Given the description of an element on the screen output the (x, y) to click on. 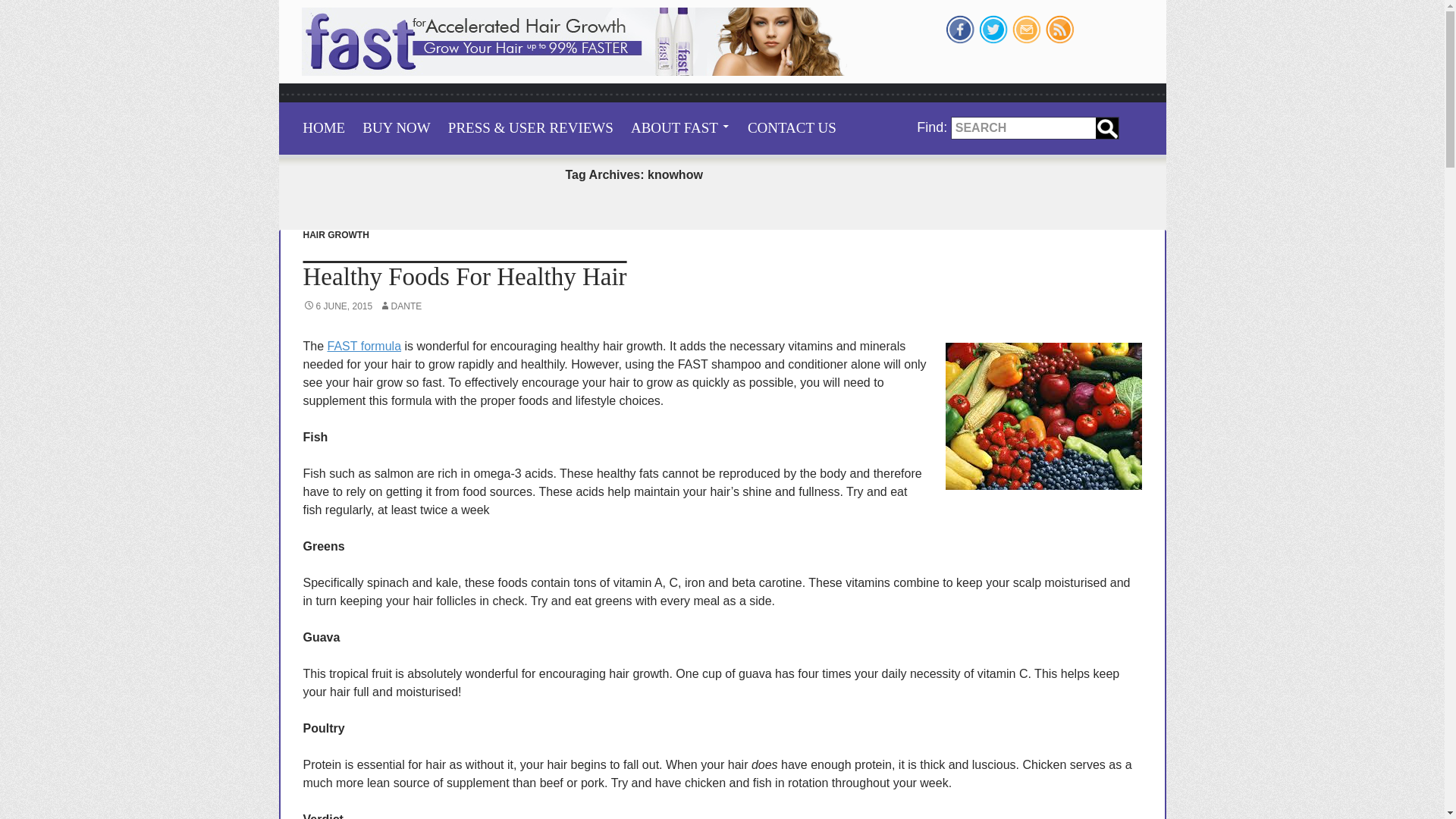
Healthy Foods For Healthy Hair (464, 276)
CONTACT US (791, 127)
DANTE (400, 306)
6 JUNE, 2015 (337, 306)
SKIP TO CONTENT (288, 109)
BUY NOW (396, 127)
HAIR GROWTH (335, 235)
FAST formula (364, 345)
HOME (323, 127)
ABOUT FAST (680, 127)
